Given the description of an element on the screen output the (x, y) to click on. 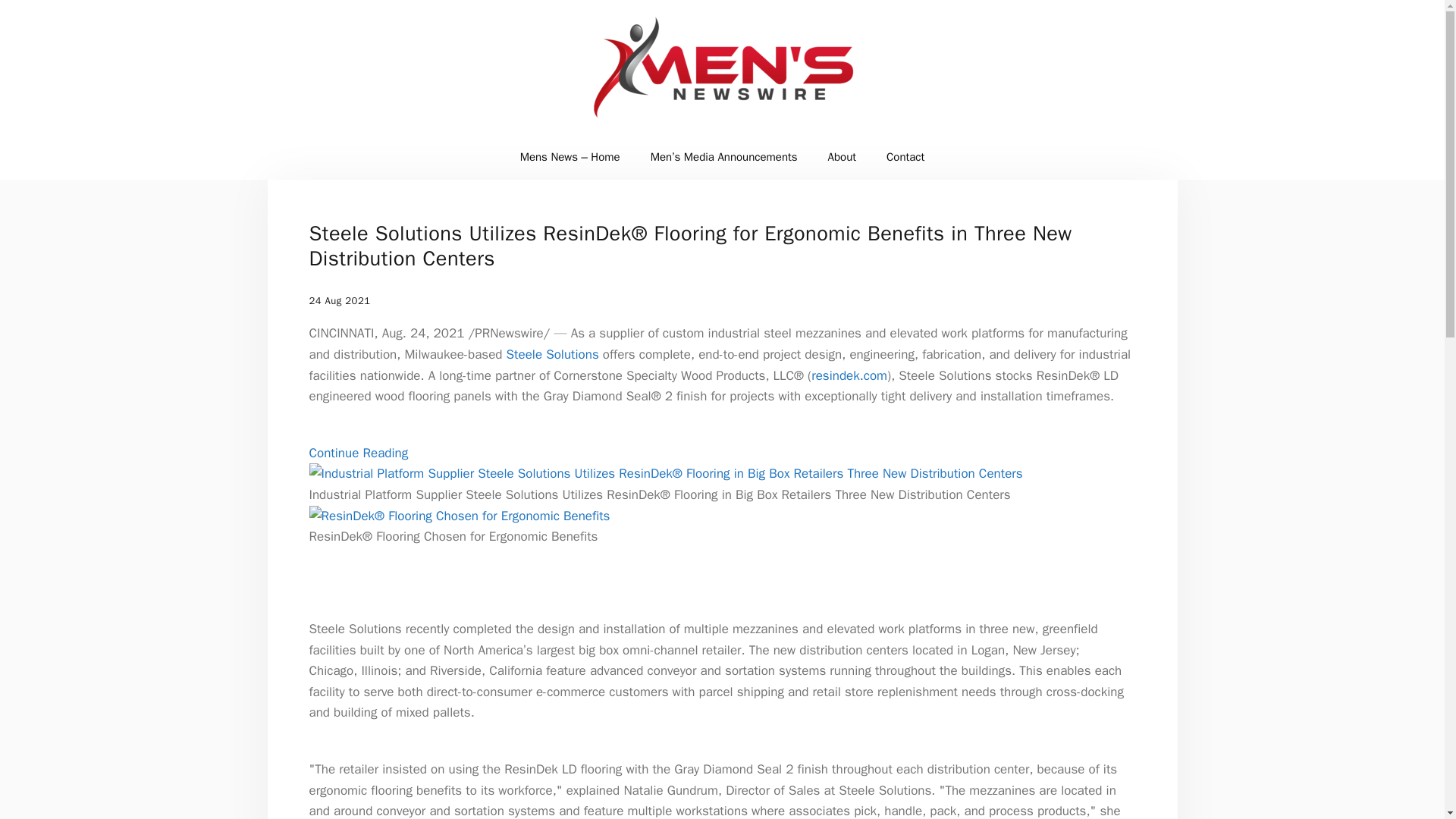
Contact (904, 156)
Continue Reading (358, 453)
Continue Reading (358, 453)
Steele Solutions (552, 354)
resindek.com (848, 374)
About (841, 156)
